Given the description of an element on the screen output the (x, y) to click on. 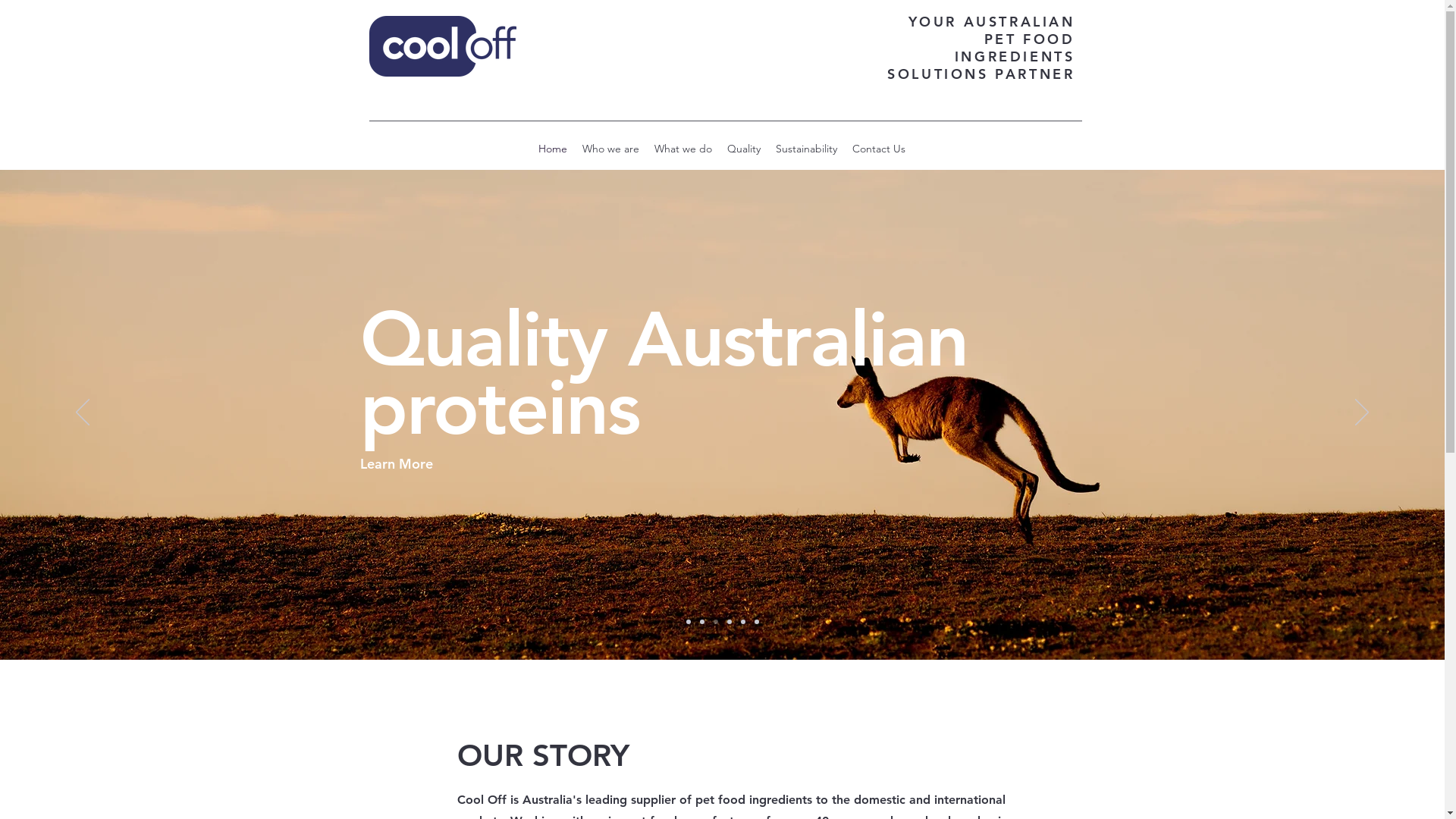
Sustainability Element type: text (806, 148)
Learn More Element type: text (413, 531)
What we do Element type: text (682, 148)
Home Element type: text (552, 148)
Who we are Element type: text (610, 148)
Quality Element type: text (743, 148)
Contact Us Element type: text (878, 148)
